Given the description of an element on the screen output the (x, y) to click on. 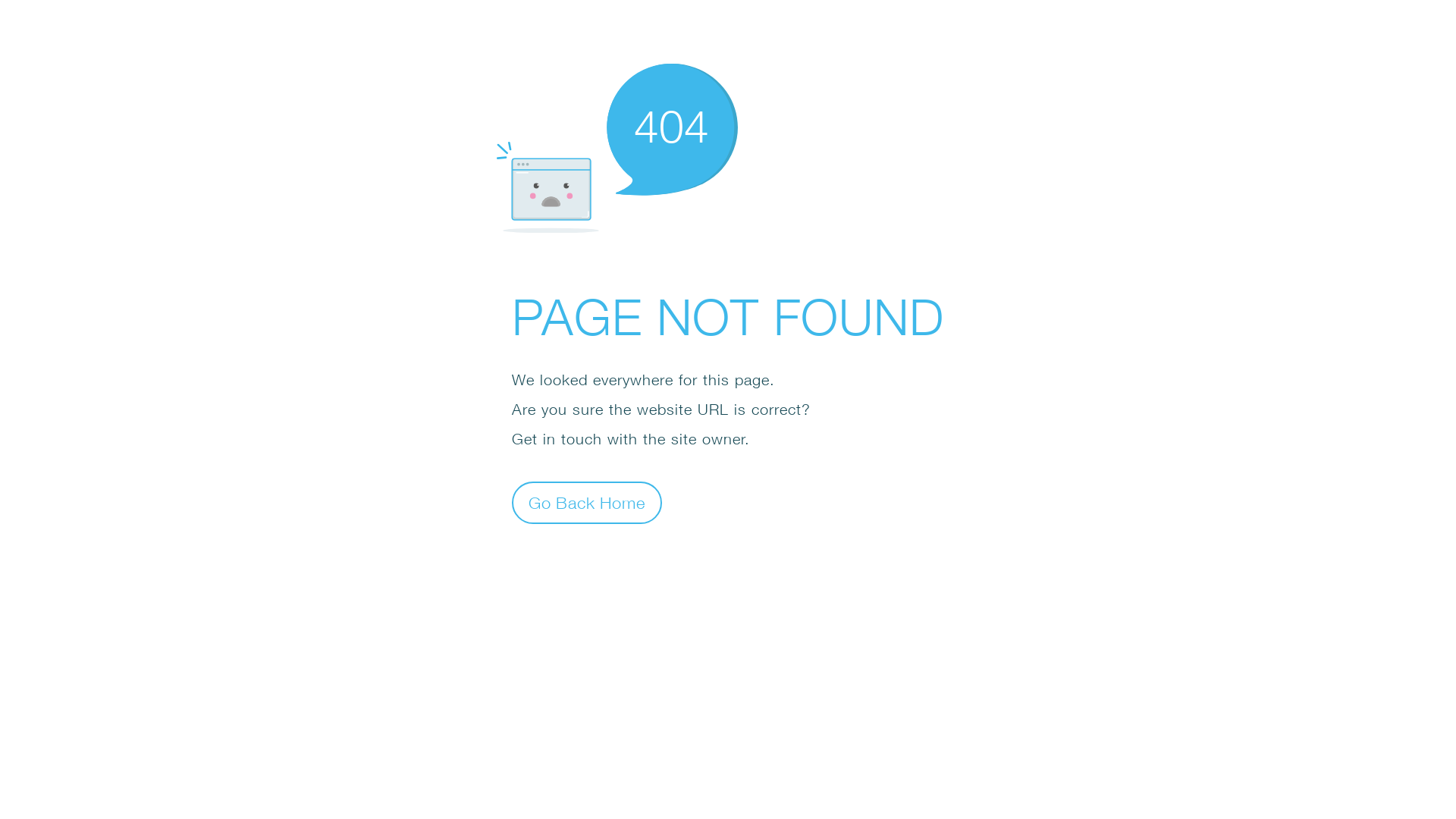
Go Back Home Element type: text (586, 502)
